Given the description of an element on the screen output the (x, y) to click on. 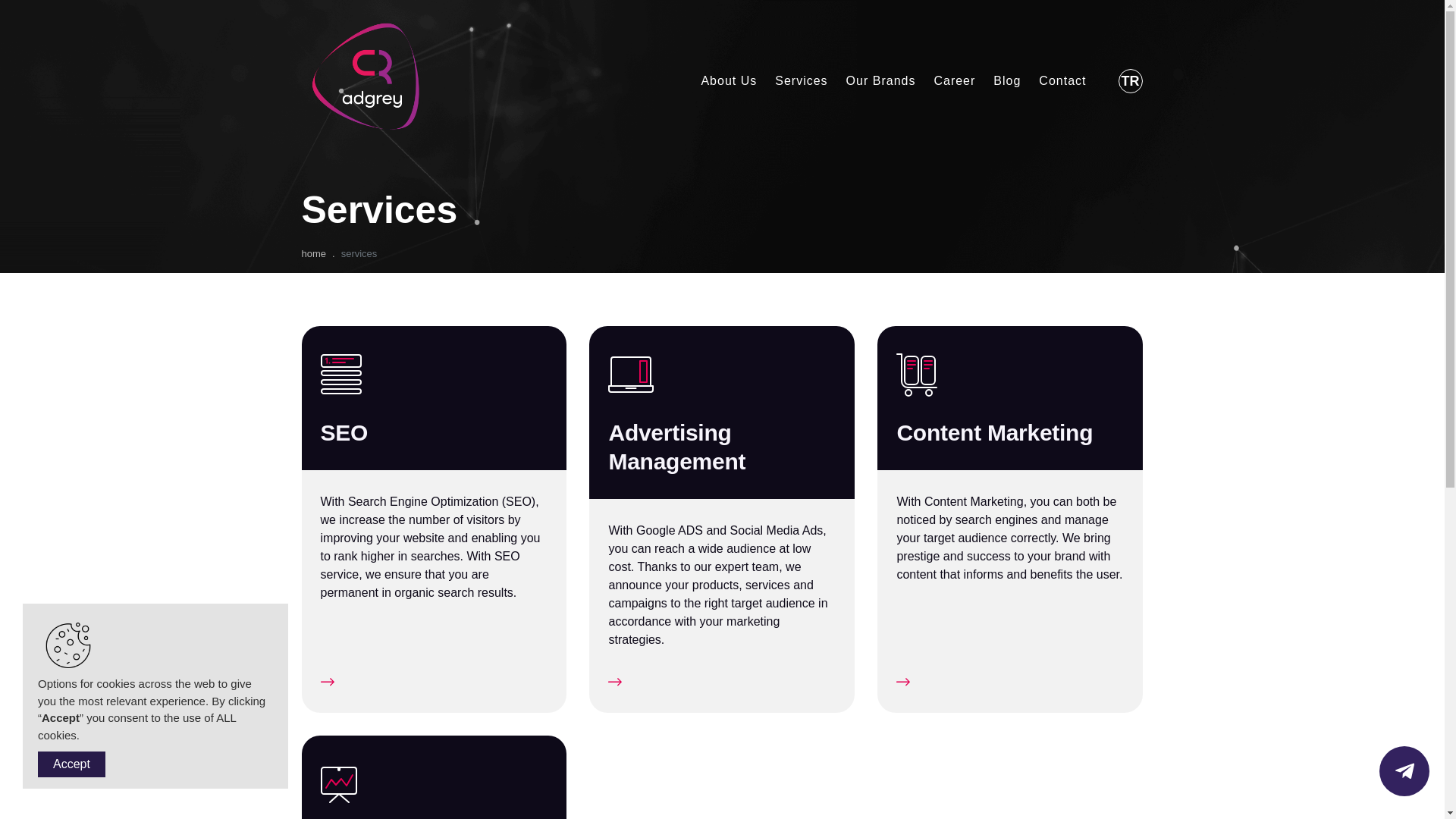
SEO (434, 397)
Advertising Management (721, 411)
home (313, 252)
Reputation Management (434, 777)
Blog (997, 81)
Language (1129, 80)
Our Brands (871, 81)
SEO (851, 111)
Accept (70, 764)
Contact (1053, 81)
